Given the description of an element on the screen output the (x, y) to click on. 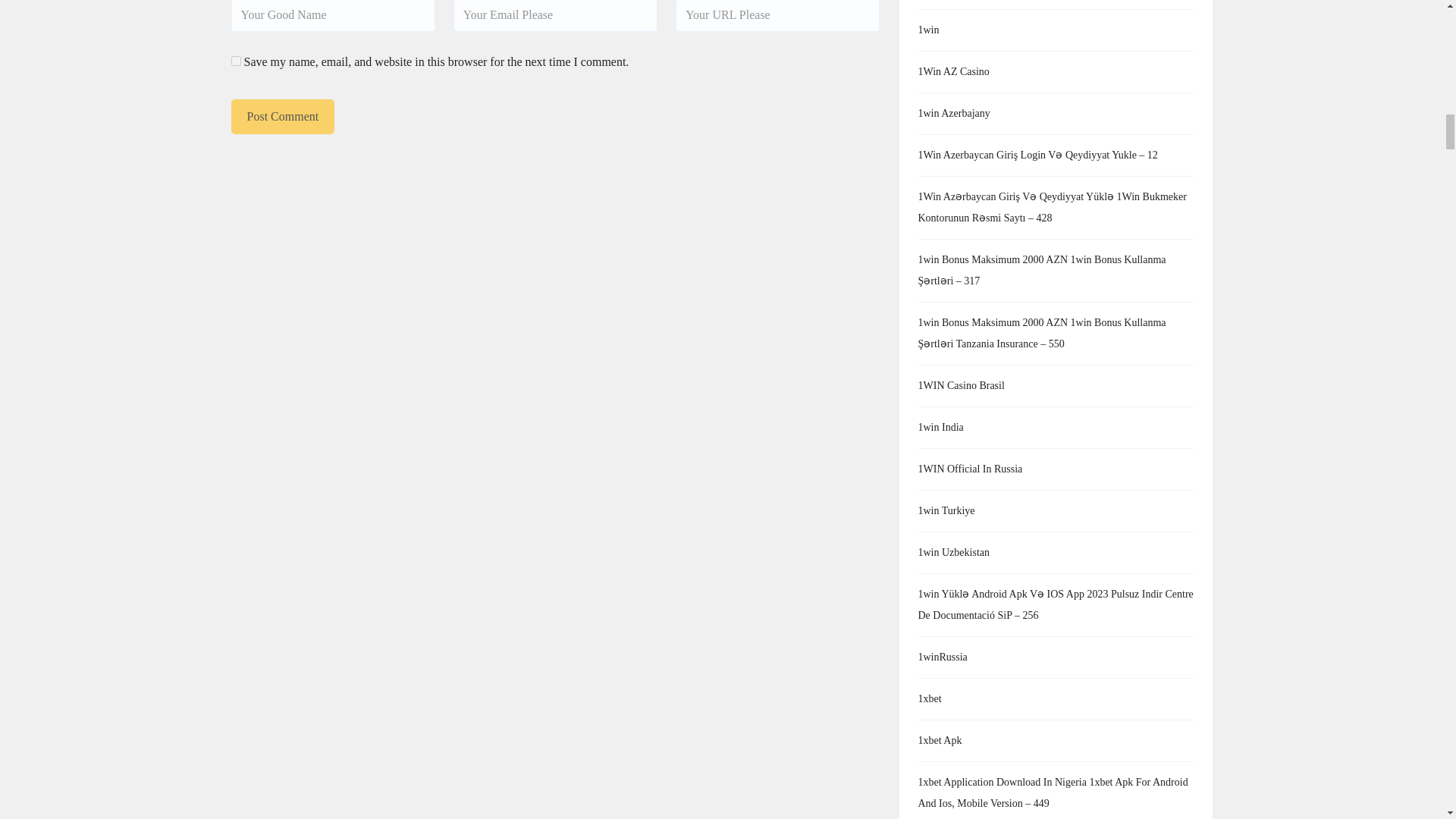
Post Comment (282, 116)
Post Comment (282, 116)
yes (235, 61)
